Given the description of an element on the screen output the (x, y) to click on. 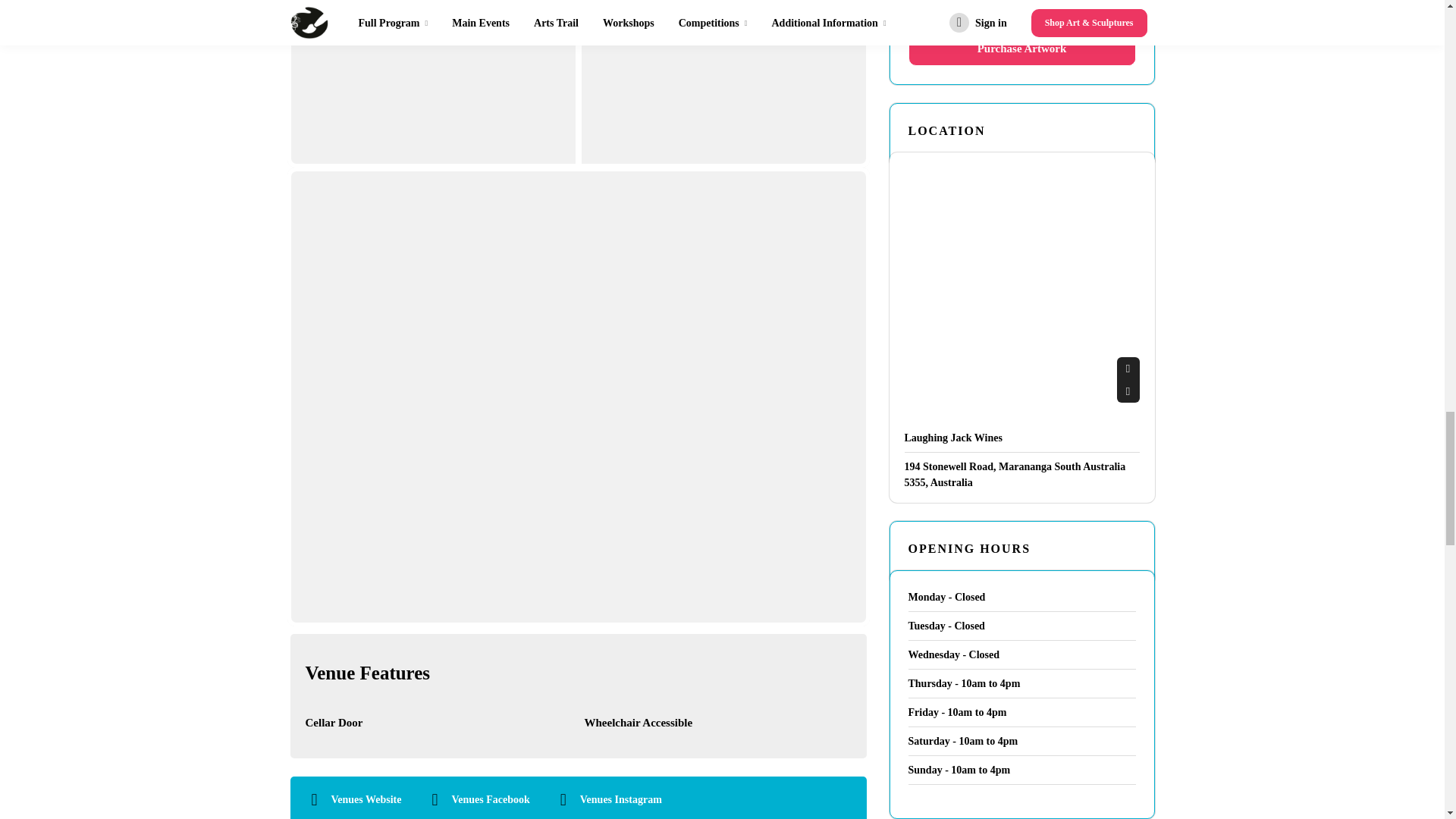
Venues Instagram (620, 797)
Venues Website (365, 797)
Venues Facebook (490, 797)
